Given the description of an element on the screen output the (x, y) to click on. 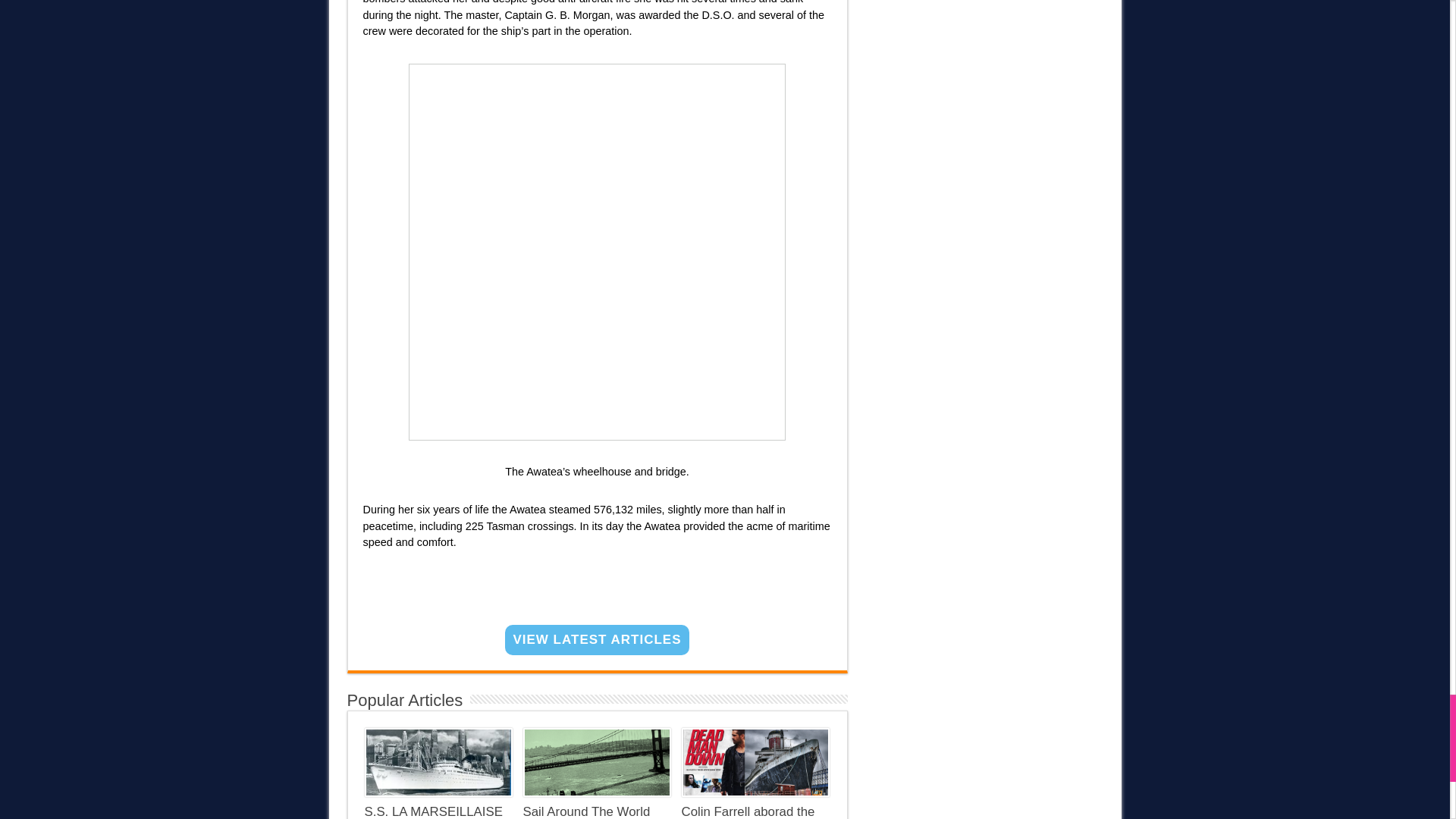
Colin Farrell aborad the SS United States (747, 811)
Popular Articles (405, 700)
VIEW LATEST ARTICLES (596, 639)
